Given the description of an element on the screen output the (x, y) to click on. 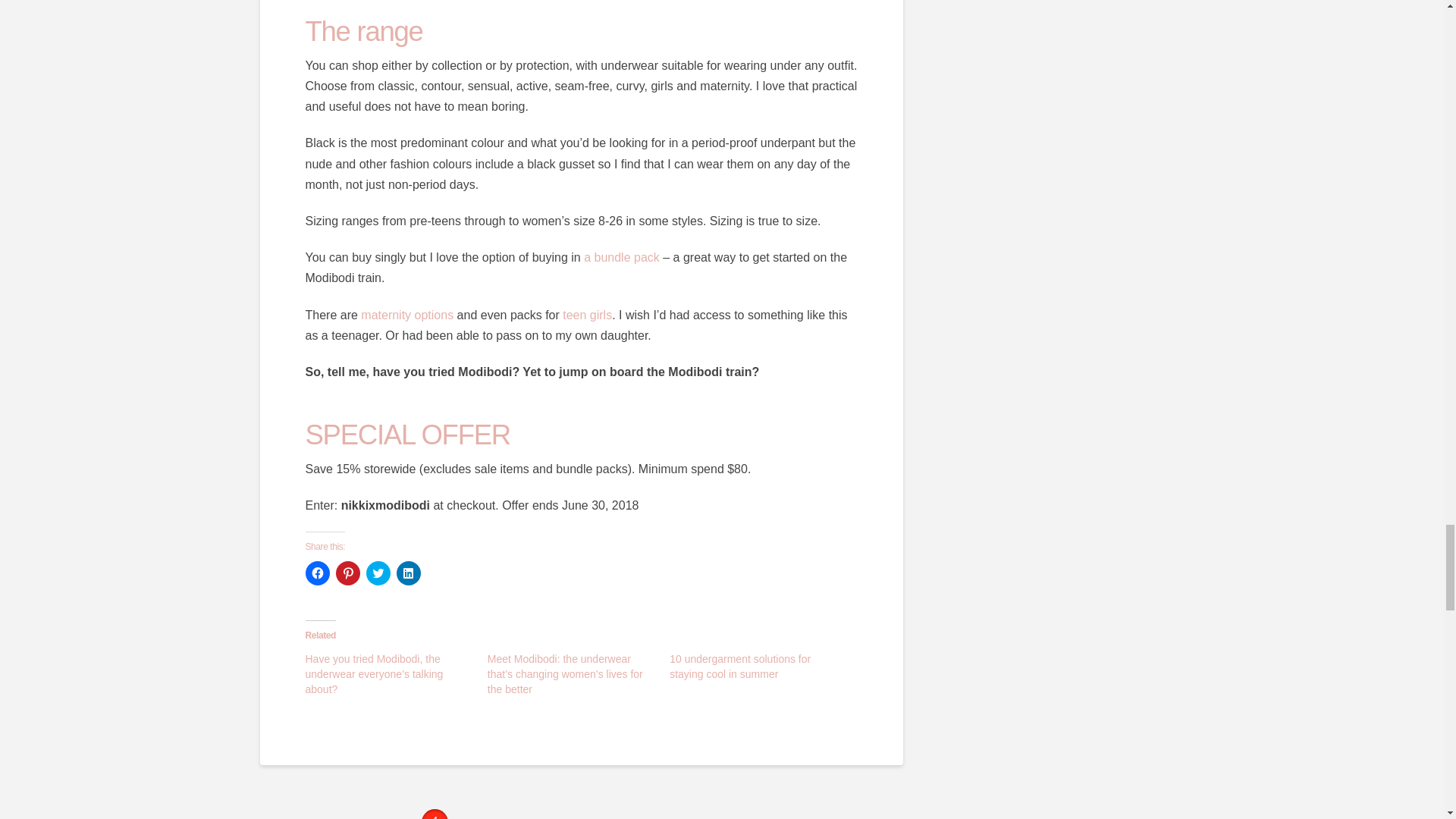
Click to share on Pinterest (346, 573)
Click to share on Twitter (377, 573)
Click to share on LinkedIn (408, 573)
Click to share on Facebook (316, 573)
10 undergarment solutions for staying cool in summer (739, 666)
